Given the description of an element on the screen output the (x, y) to click on. 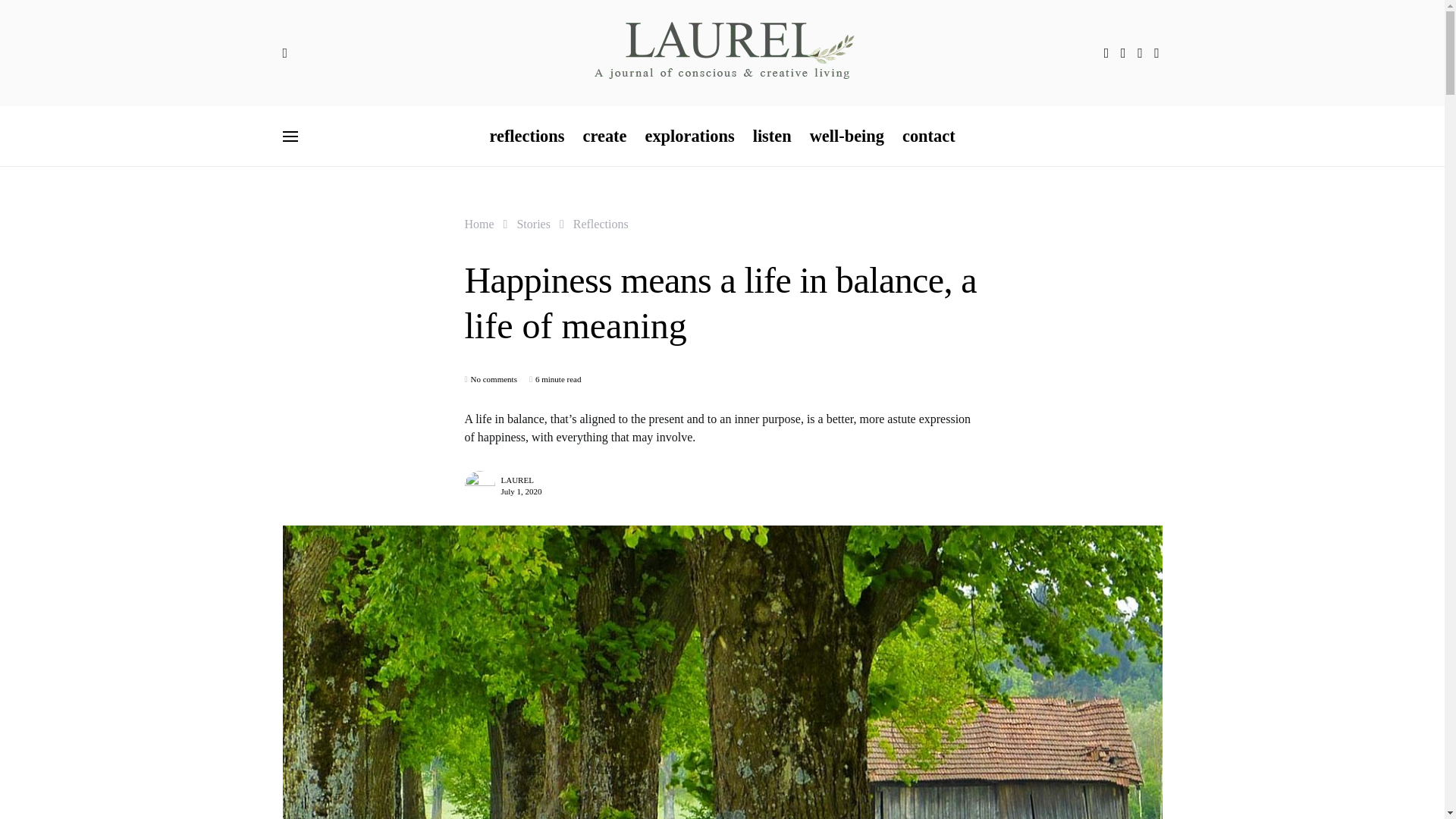
contact (924, 136)
listen (772, 136)
LAUREL (516, 479)
Reflections (600, 223)
create (603, 136)
No comments (493, 379)
Stories (533, 223)
Home (478, 223)
well-being (846, 136)
reflections (531, 136)
explorations (688, 136)
